Given the description of an element on the screen output the (x, y) to click on. 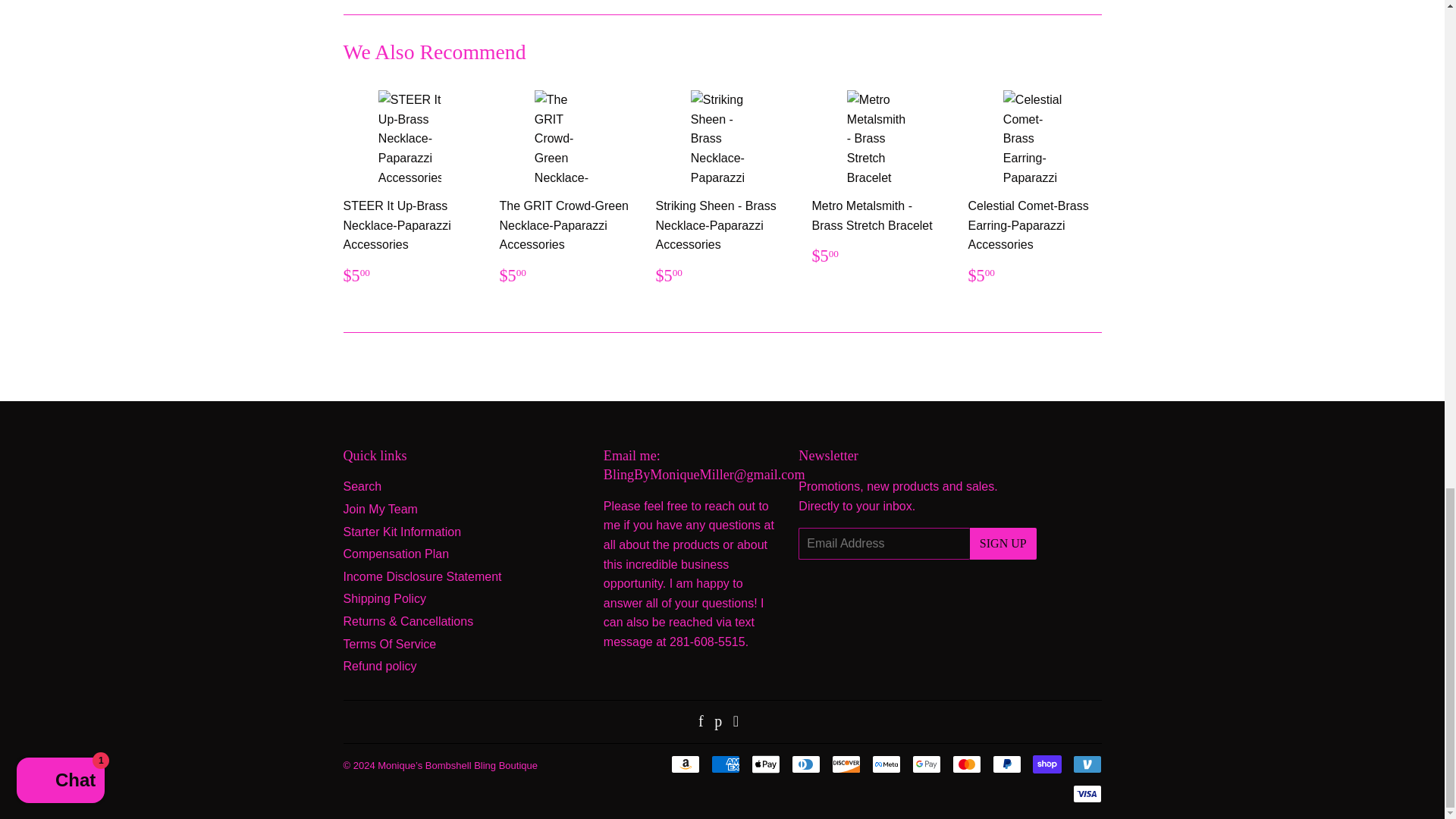
Visa (1085, 793)
Meta Pay (886, 764)
Venmo (1085, 764)
Google Pay (925, 764)
American Express (725, 764)
Amazon (683, 764)
Apple Pay (764, 764)
PayPal (1005, 764)
Shop Pay (1046, 764)
Diners Club (806, 764)
Discover (845, 764)
Mastercard (966, 764)
